Given the description of an element on the screen output the (x, y) to click on. 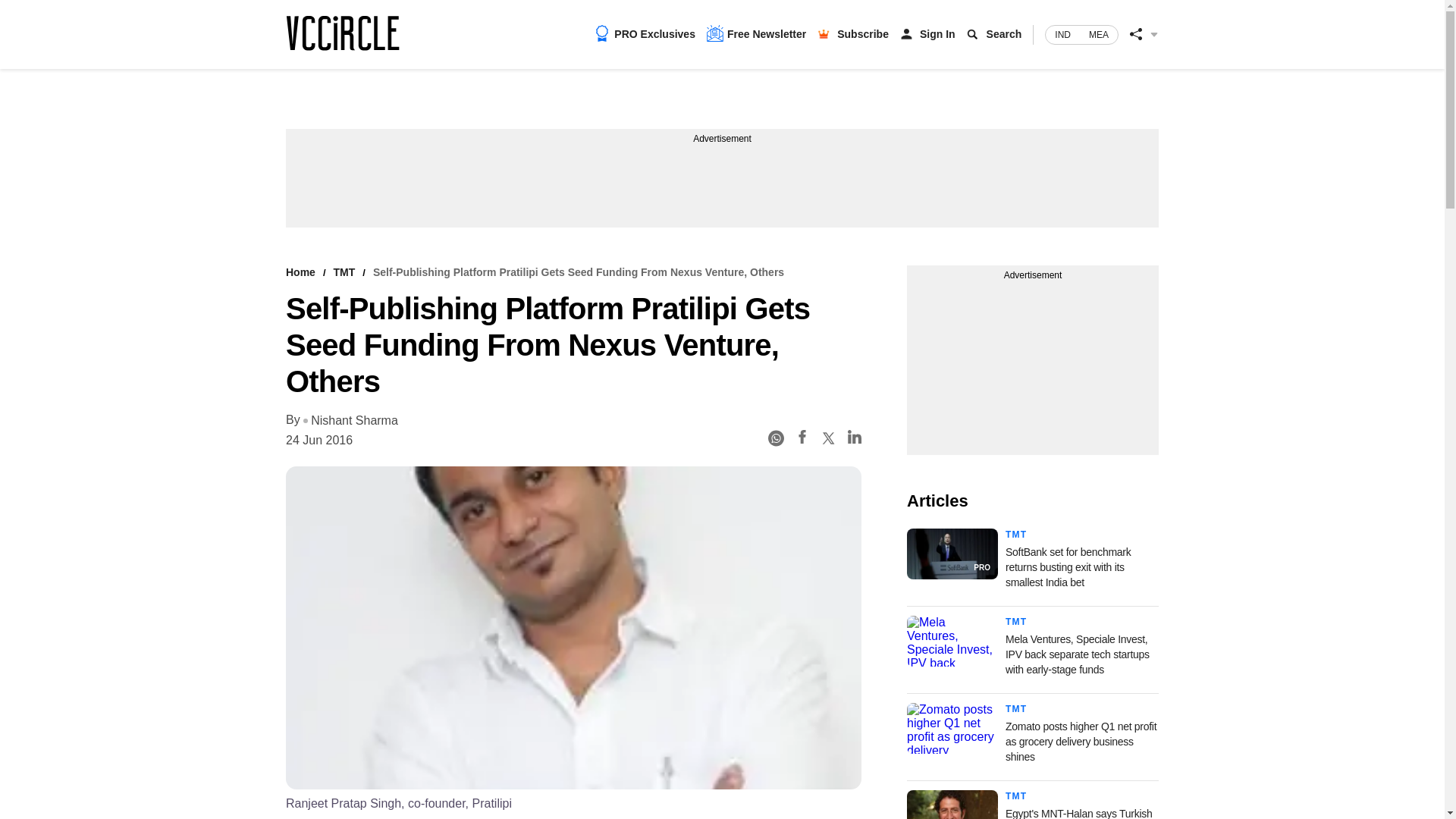
Home (300, 272)
Search (1004, 33)
Sign In (937, 33)
Free Newsletter (756, 33)
PRO Exclusives (644, 33)
TMT (344, 272)
IND (1062, 34)
Subscribe (862, 33)
Stay Home. Read Quality News (341, 32)
Nishant Sharma (349, 420)
MEA (1099, 34)
